Given the description of an element on the screen output the (x, y) to click on. 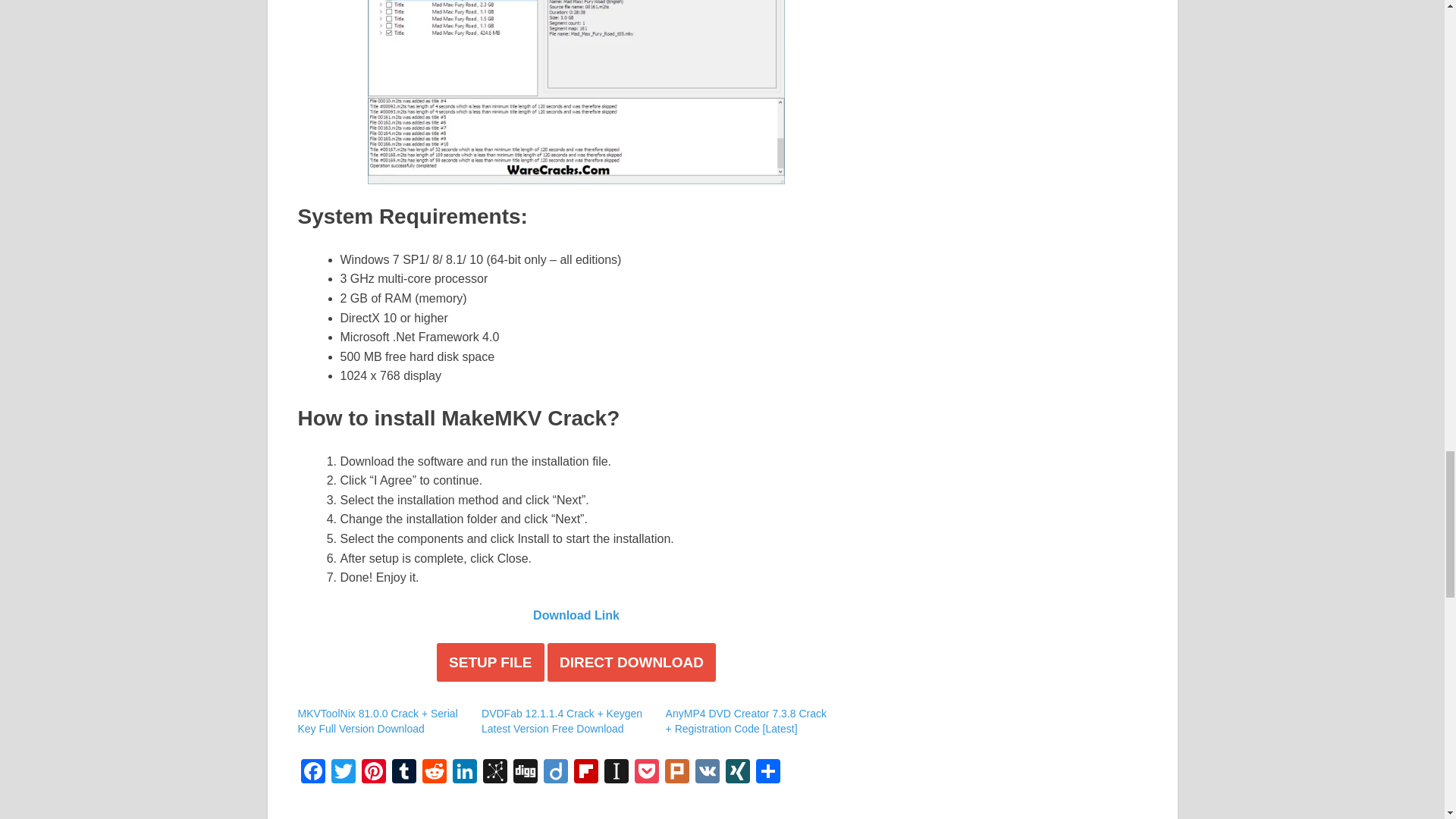
Facebook (312, 773)
Reddit (433, 773)
Pocket (645, 773)
Twitter (342, 773)
Digg (524, 773)
Pinterest (373, 773)
Instapaper (614, 773)
Tumblr (403, 773)
Plurk (676, 773)
BibSonomy (494, 773)
